Given the description of an element on the screen output the (x, y) to click on. 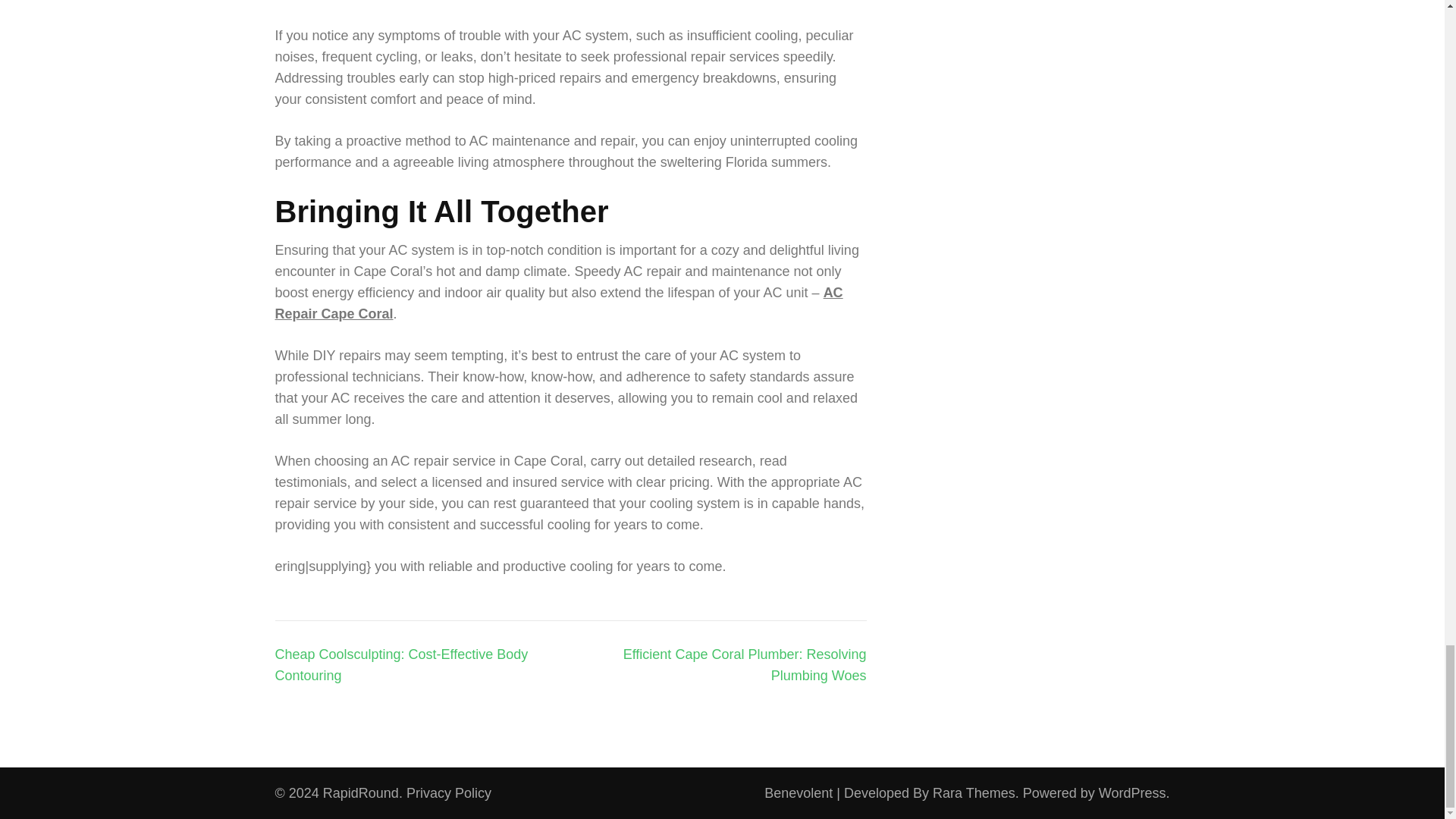
AC Repair Cape Coral (559, 303)
Efficient Cape Coral Plumber: Resolving Plumbing Woes (744, 665)
Cheap Coolsculpting: Cost-Effective Body Contouring (401, 665)
